Given the description of an element on the screen output the (x, y) to click on. 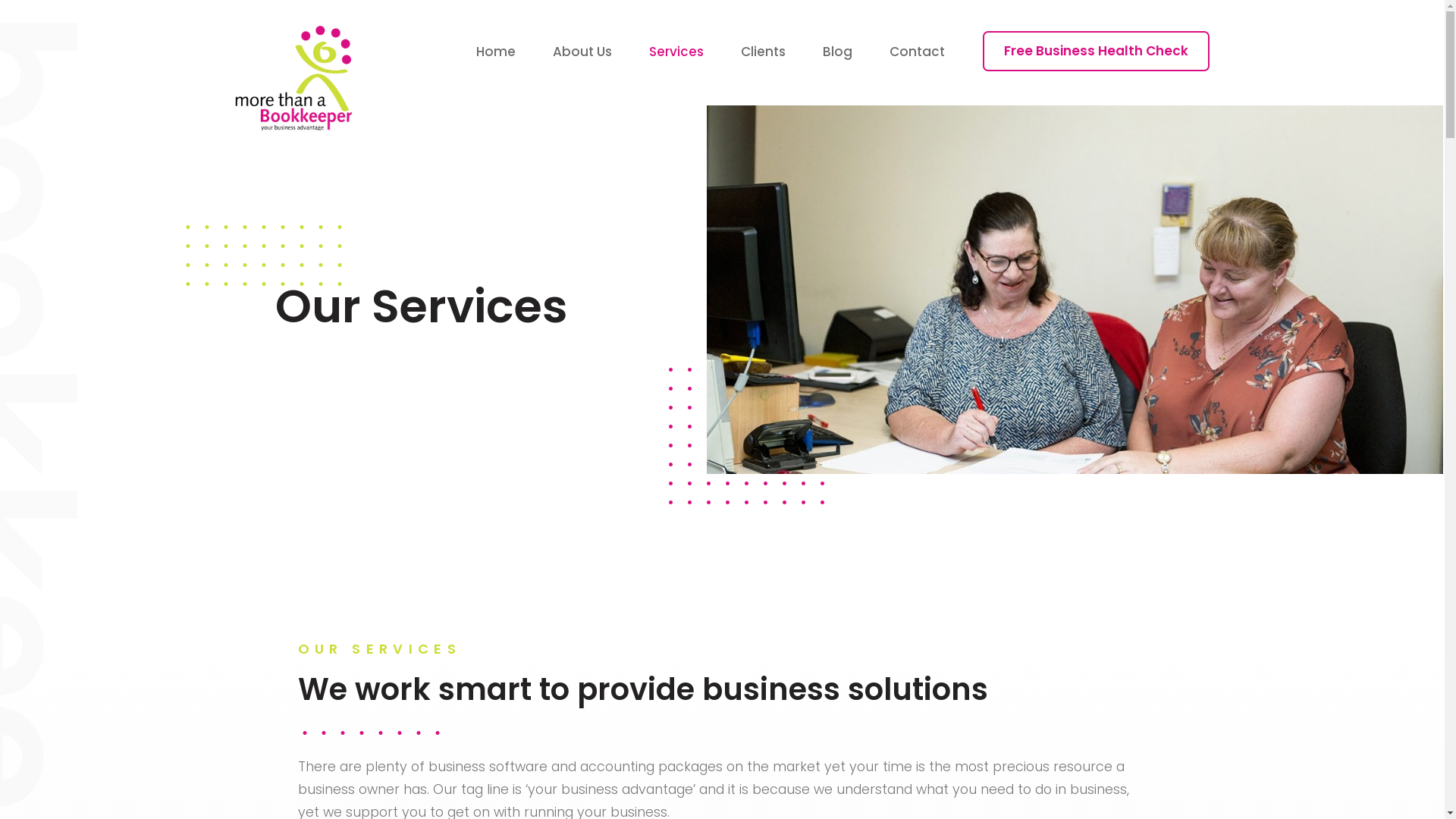
About Us Element type: text (582, 51)
Free Business Health Check Element type: text (1095, 51)
Services - Bookkeeping Element type: hover (263, 254)
Clients Element type: text (762, 51)
Services - Bookkeeping Element type: hover (369, 732)
Home Element type: text (495, 51)
Blog Element type: text (837, 51)
Services - Bookkeeping Element type: hover (746, 435)
Services Element type: text (675, 51)
Contact Element type: text (917, 51)
